Given the description of an element on the screen output the (x, y) to click on. 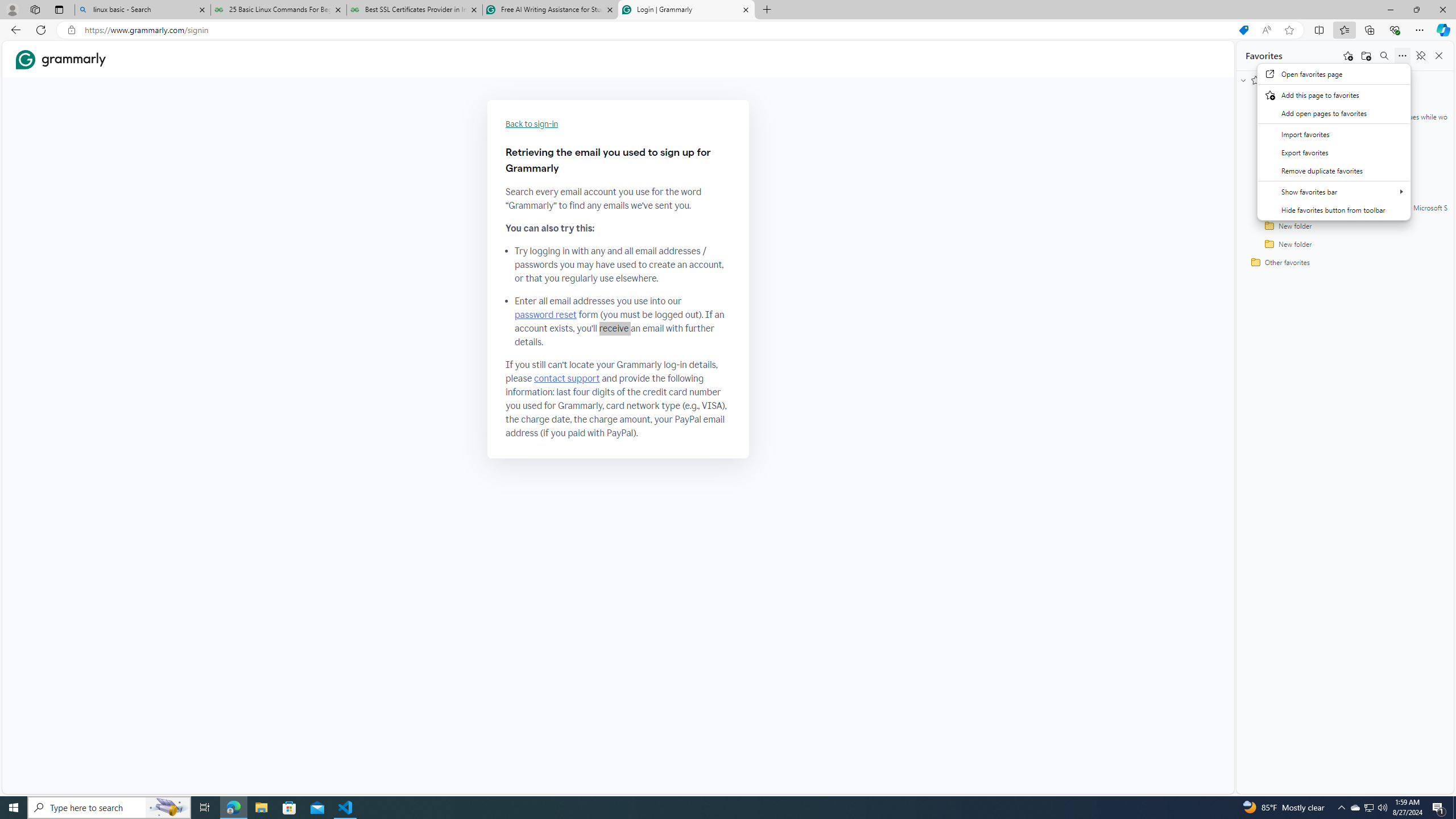
25 Basic Linux Commands For Beginners - GeeksforGeeks (277, 9)
linux basic - Search (142, 9)
Add open pages to favorites (1333, 113)
Close favorites (1439, 55)
Free AI Writing Assistance for Students | Grammarly (550, 9)
Context (1333, 141)
Back to sign-in (532, 124)
password reset (545, 314)
Open favorites page (1333, 73)
Search favorites (1383, 55)
